Given the description of an element on the screen output the (x, y) to click on. 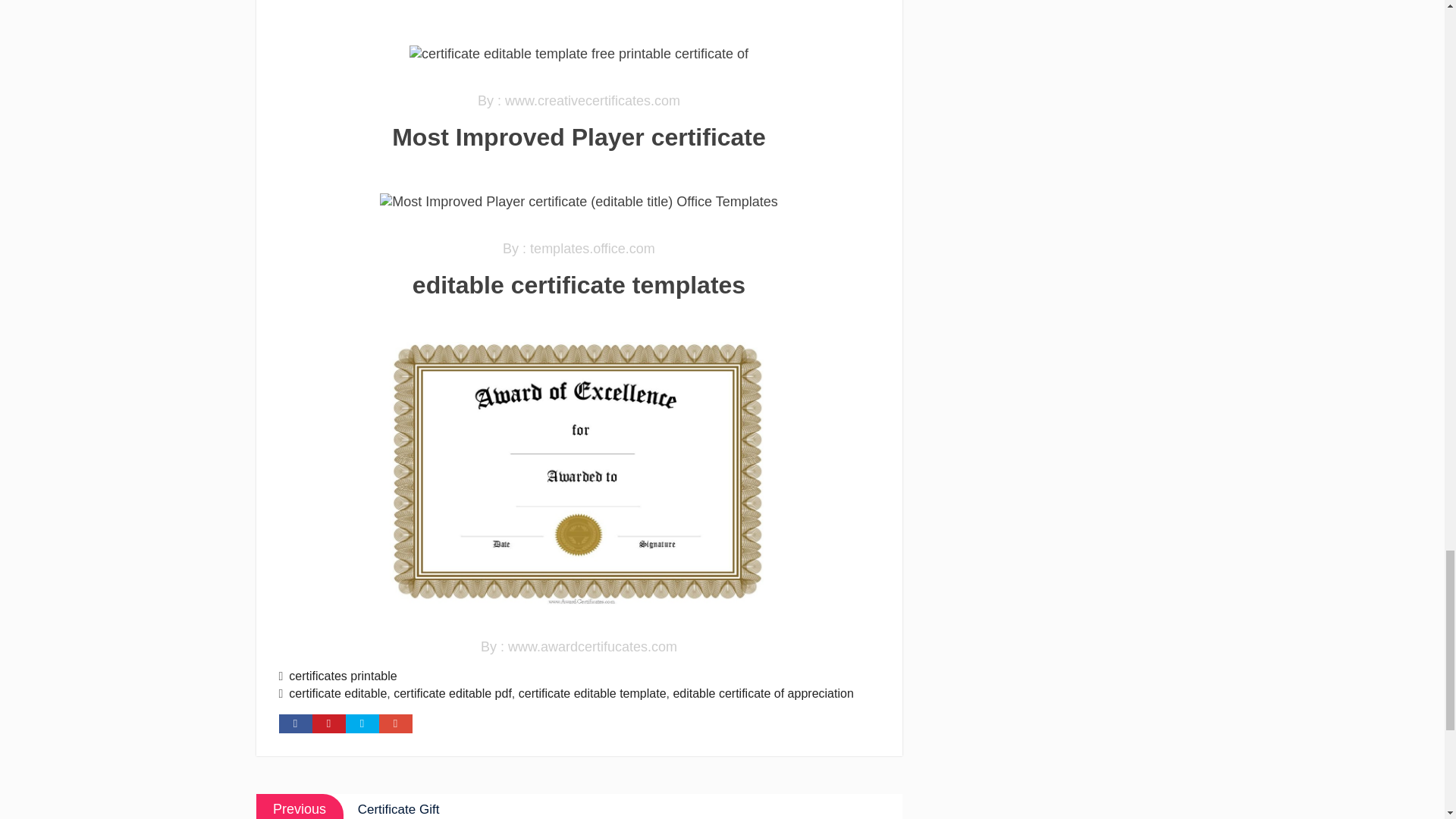
certificate editable template free printable certificate of  (578, 54)
certificate editable (337, 693)
certificates printable (342, 675)
certificate editable pdf (452, 693)
certificate editable template (592, 693)
editable certificate of appreciation (762, 693)
